Given the description of an element on the screen output the (x, y) to click on. 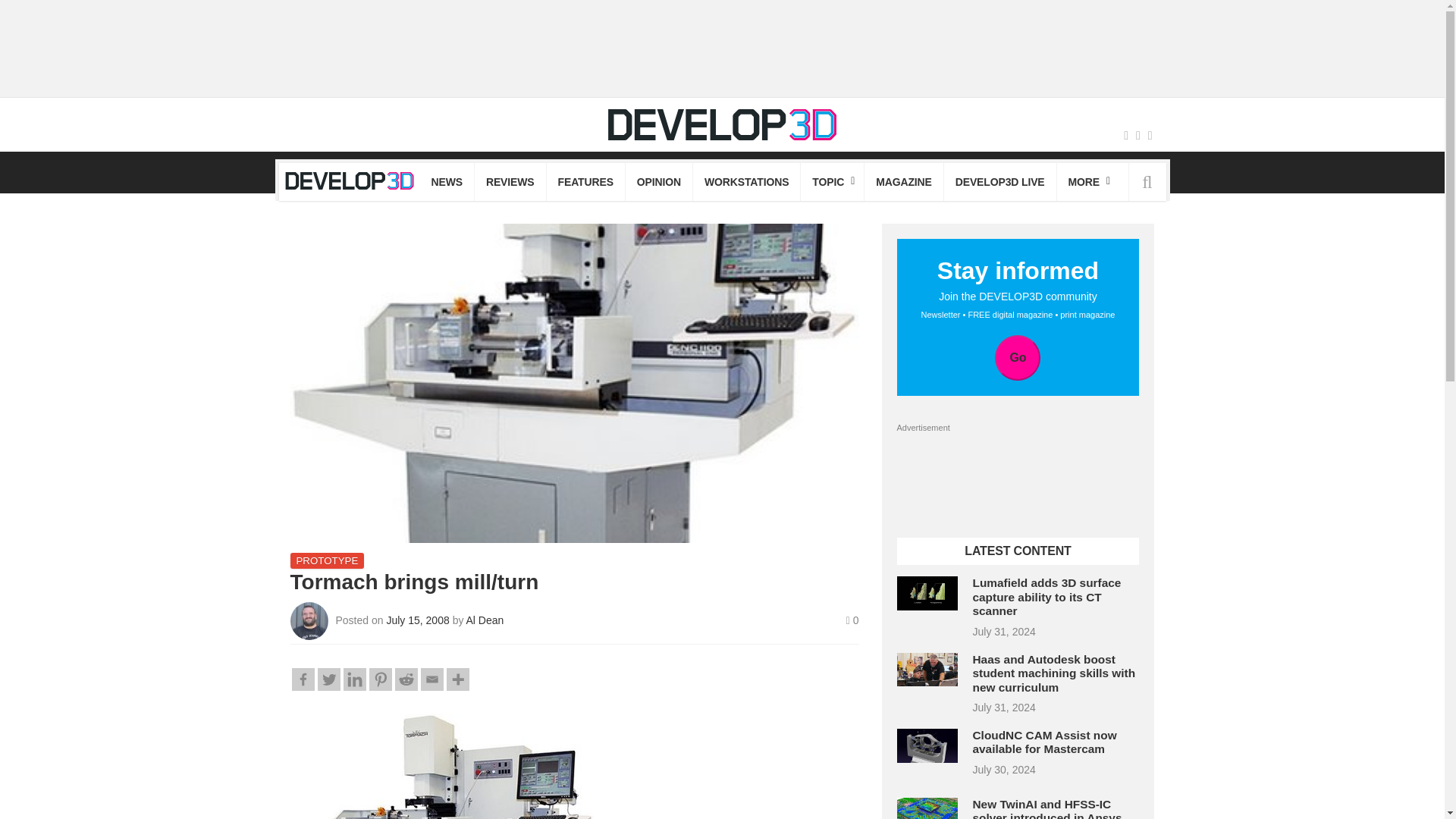
WORKSTATIONS (746, 181)
TOPIC (831, 181)
NEWS (447, 181)
MAGAZINE (903, 181)
DEVELOP3D LIVE (1000, 181)
OPINION (659, 181)
Linkedin (353, 679)
Email (431, 679)
Twitter (328, 679)
Pinterest (379, 679)
More (456, 679)
MORE (1088, 181)
REVIEWS (510, 181)
FEATURES (585, 181)
Facebook (302, 679)
